Given the description of an element on the screen output the (x, y) to click on. 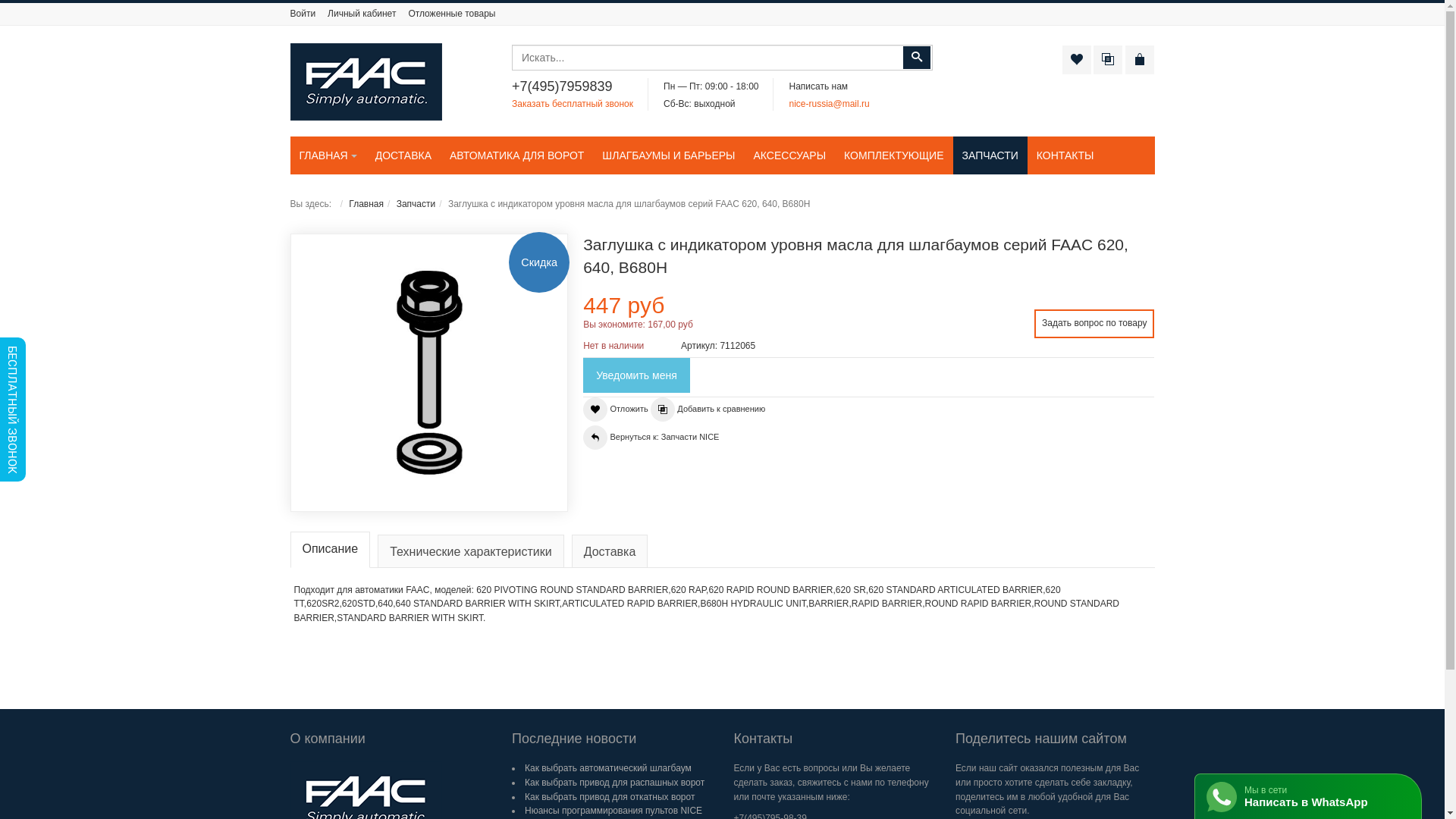
+7(495)7959839 Element type: text (561, 86)
nice-russia@mail.ru Element type: text (828, 103)
